Given the description of an element on the screen output the (x, y) to click on. 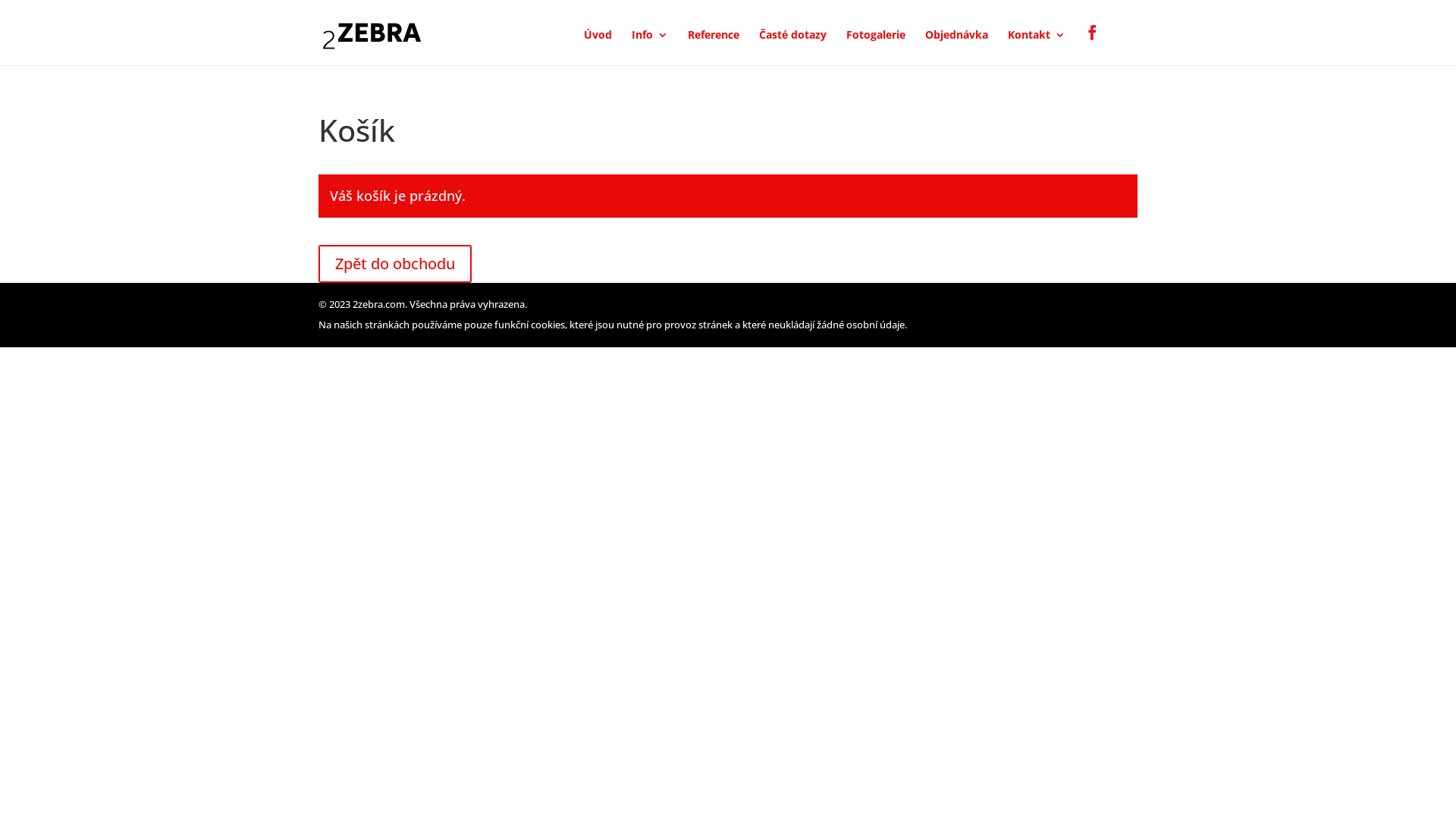
Kontakt Element type: text (1036, 47)
Fotogalerie Element type: text (875, 47)
Reference Element type: text (713, 47)
  Element type: text (1096, 44)
Info Element type: text (649, 47)
